Given the description of an element on the screen output the (x, y) to click on. 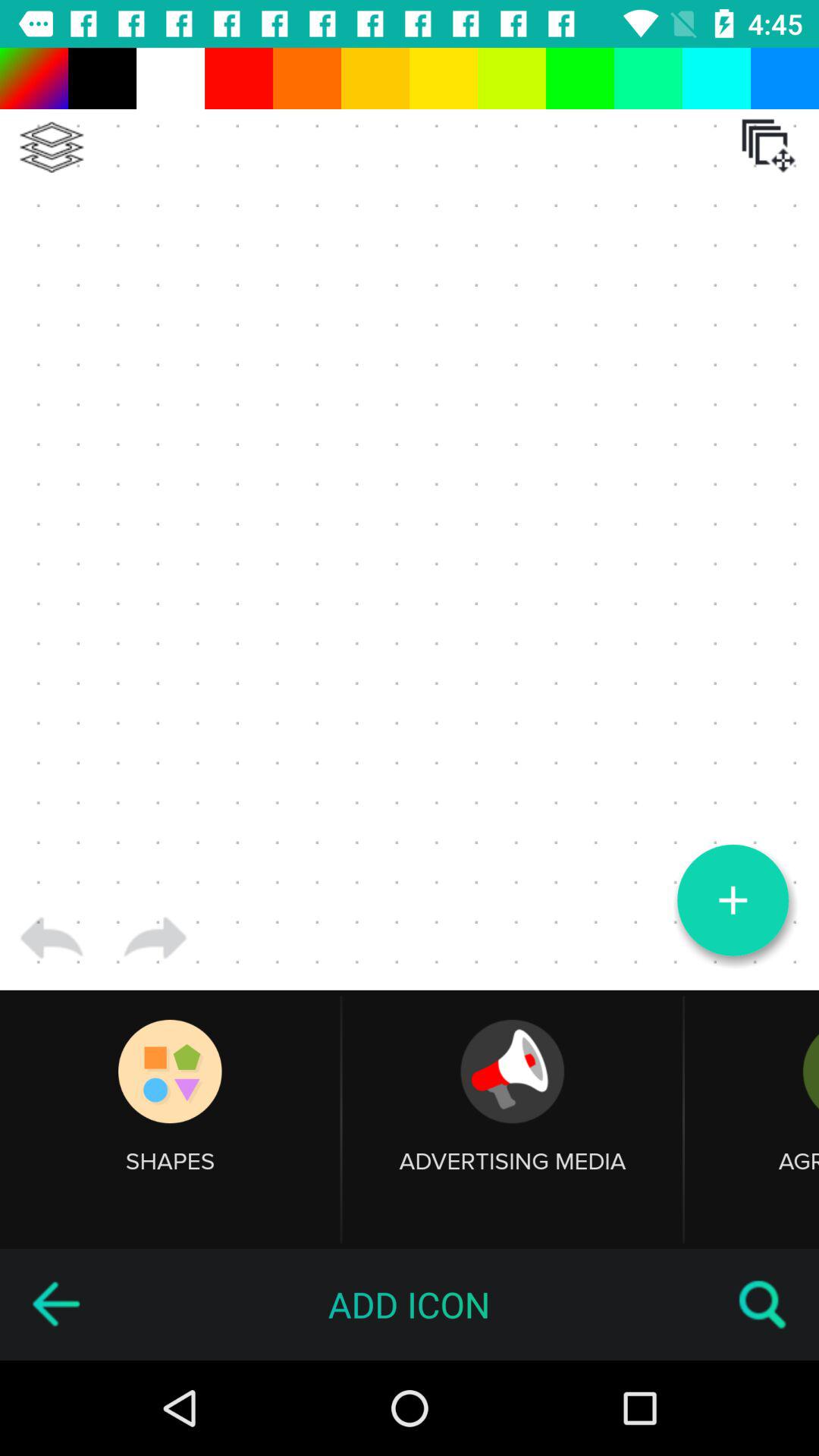
tap the item at the center (409, 518)
